Given the description of an element on the screen output the (x, y) to click on. 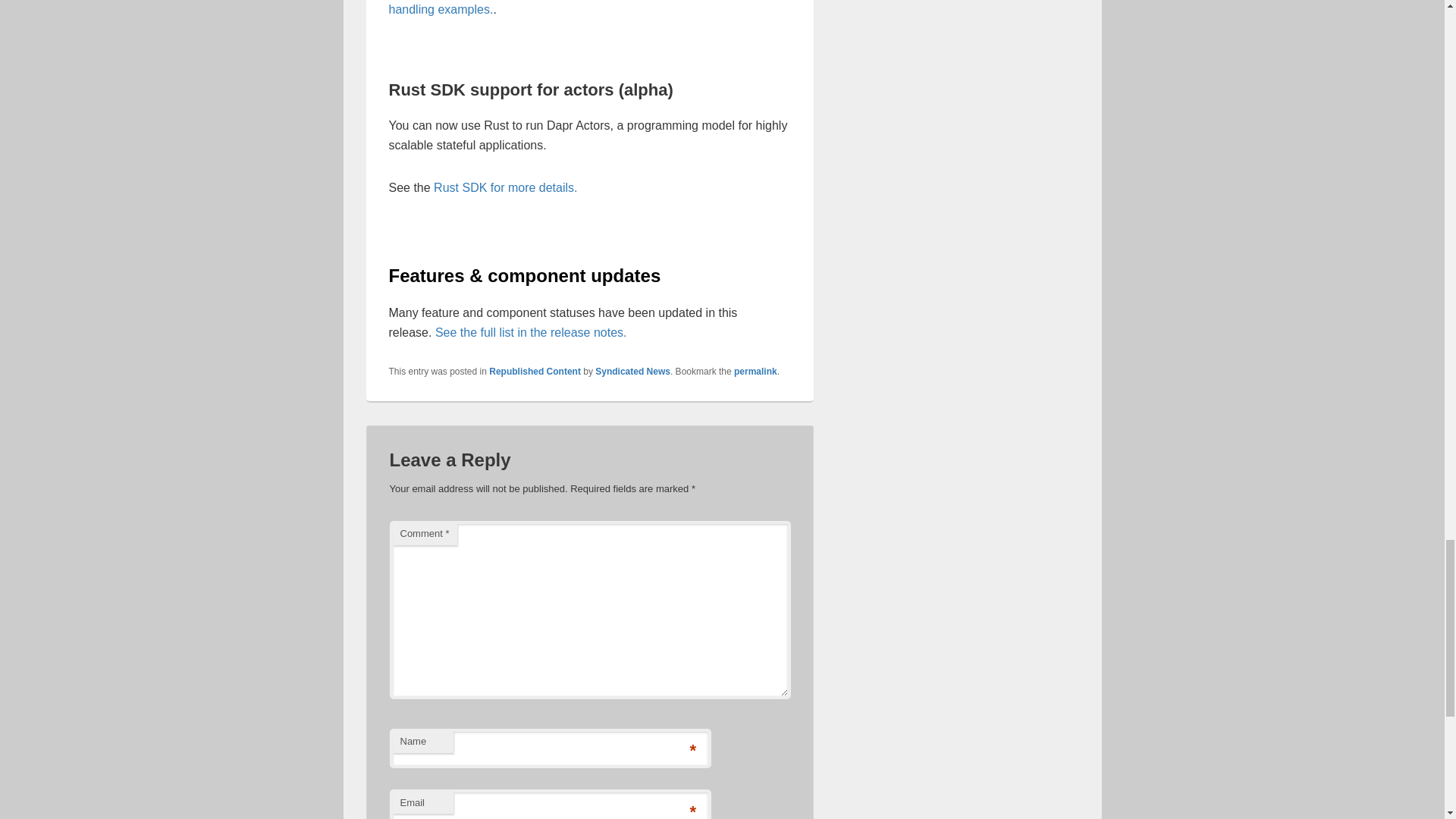
Rust SDK for more details. (504, 187)
permalink (755, 371)
Republished Content (534, 371)
See the full list in the release notes. (531, 332)
Syndicated News (632, 371)
explore the Go SDK error parsing and handling examples. (570, 7)
